Given the description of an element on the screen output the (x, y) to click on. 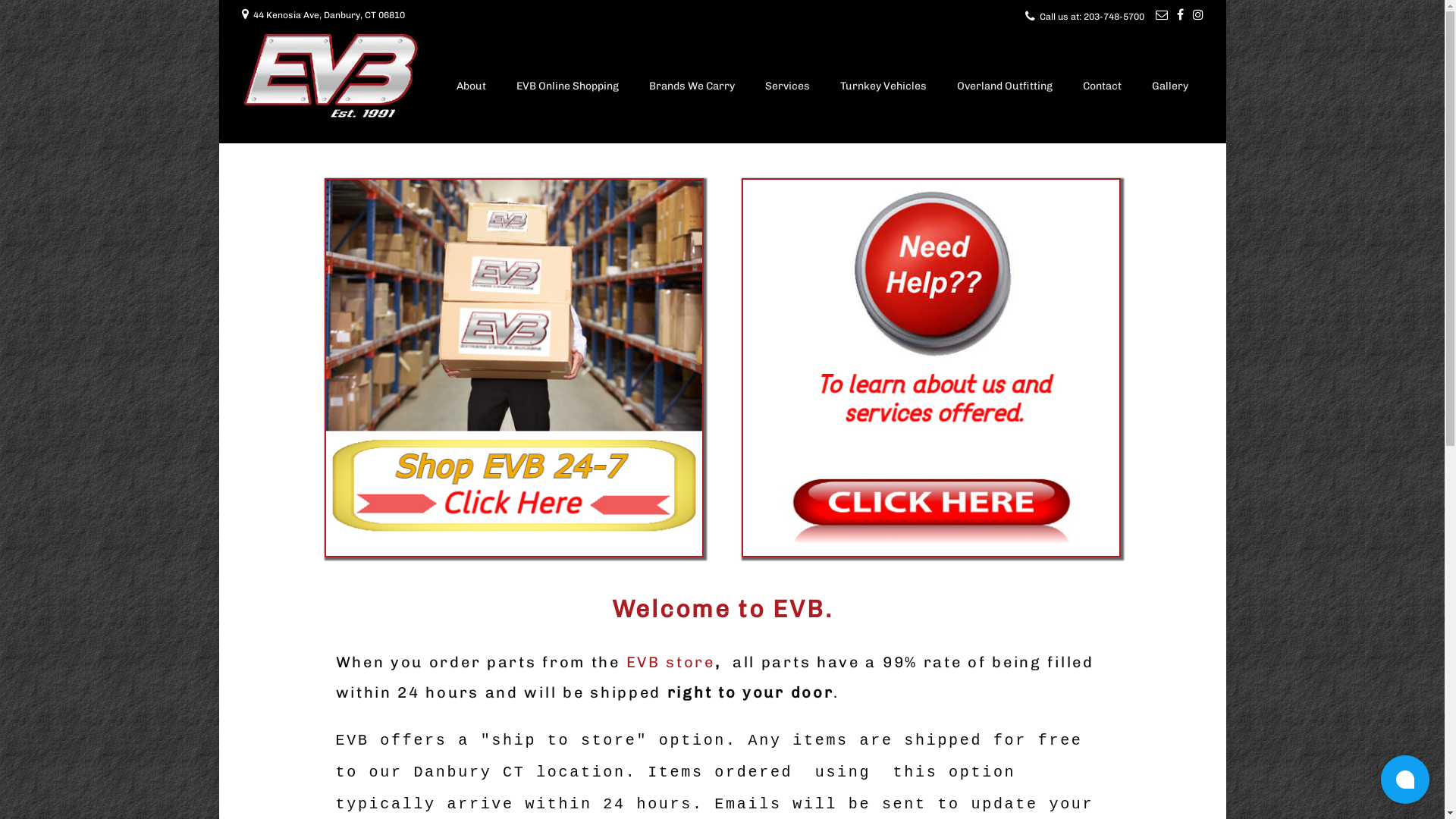
Brands We Carry Element type: text (691, 87)
Turnkey Vehicles Element type: text (883, 87)
Services Element type: text (786, 87)
Overland Outfitting Element type: text (1004, 87)
About Element type: text (471, 87)
EVB store Element type: text (670, 661)
Customer Service Element type: hover (930, 367)
Contact Element type: text (1101, 87)
Send Us an Email Element type: hover (1161, 15)
EVB Online Element type: hover (513, 367)
Find Us on Facebook Element type: hover (1179, 15)
EVB Online Shopping Element type: text (566, 87)
Call us at: 203-748-5700 Element type: text (1090, 16)
Gallery Element type: text (1168, 87)
Follow Us on Instagram Element type: hover (1197, 15)
